Given the description of an element on the screen output the (x, y) to click on. 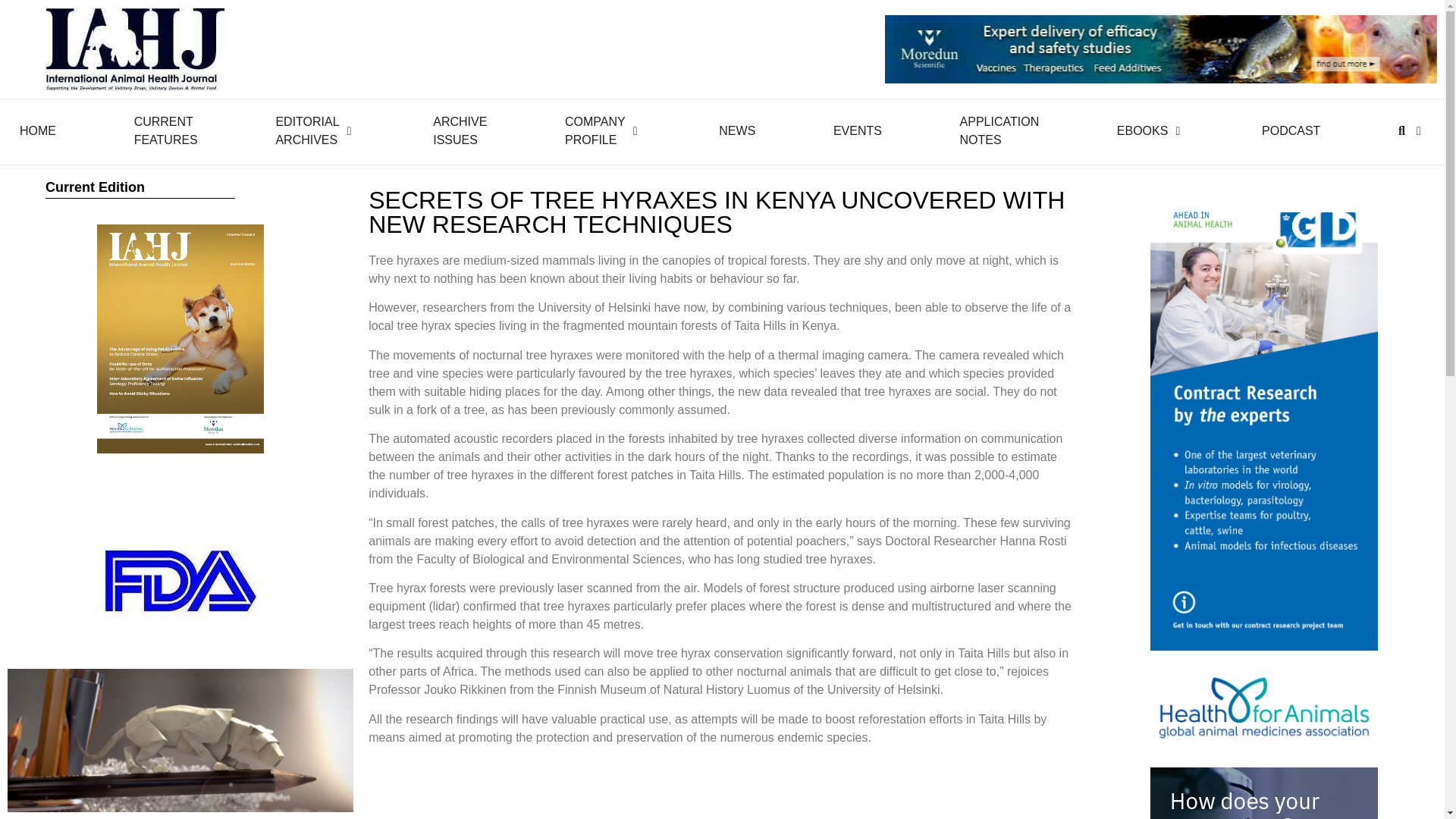
HOME (307, 131)
